Given the description of an element on the screen output the (x, y) to click on. 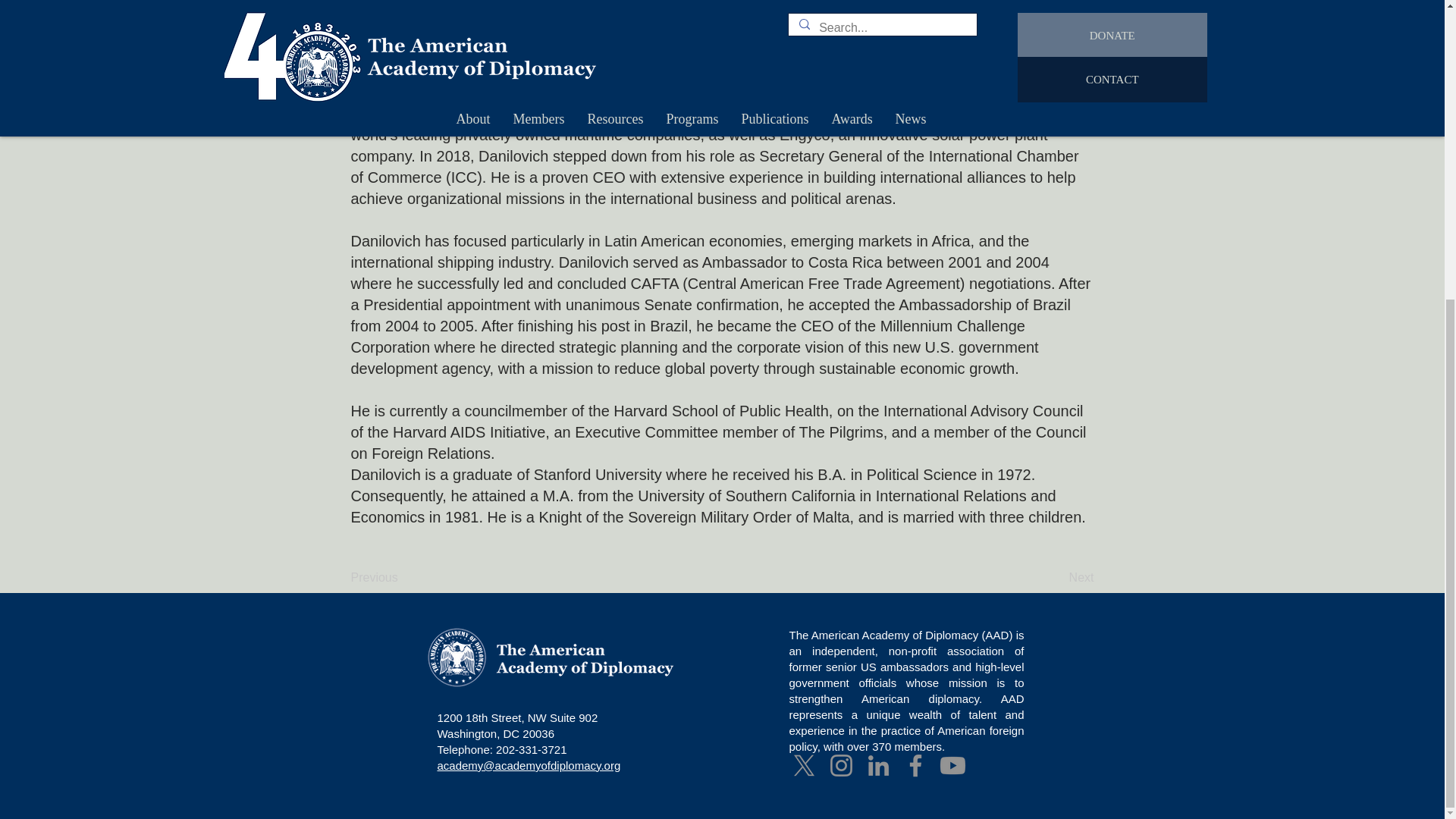
John-Danilovich-729x1024.jpg (722, 43)
